Given the description of an element on the screen output the (x, y) to click on. 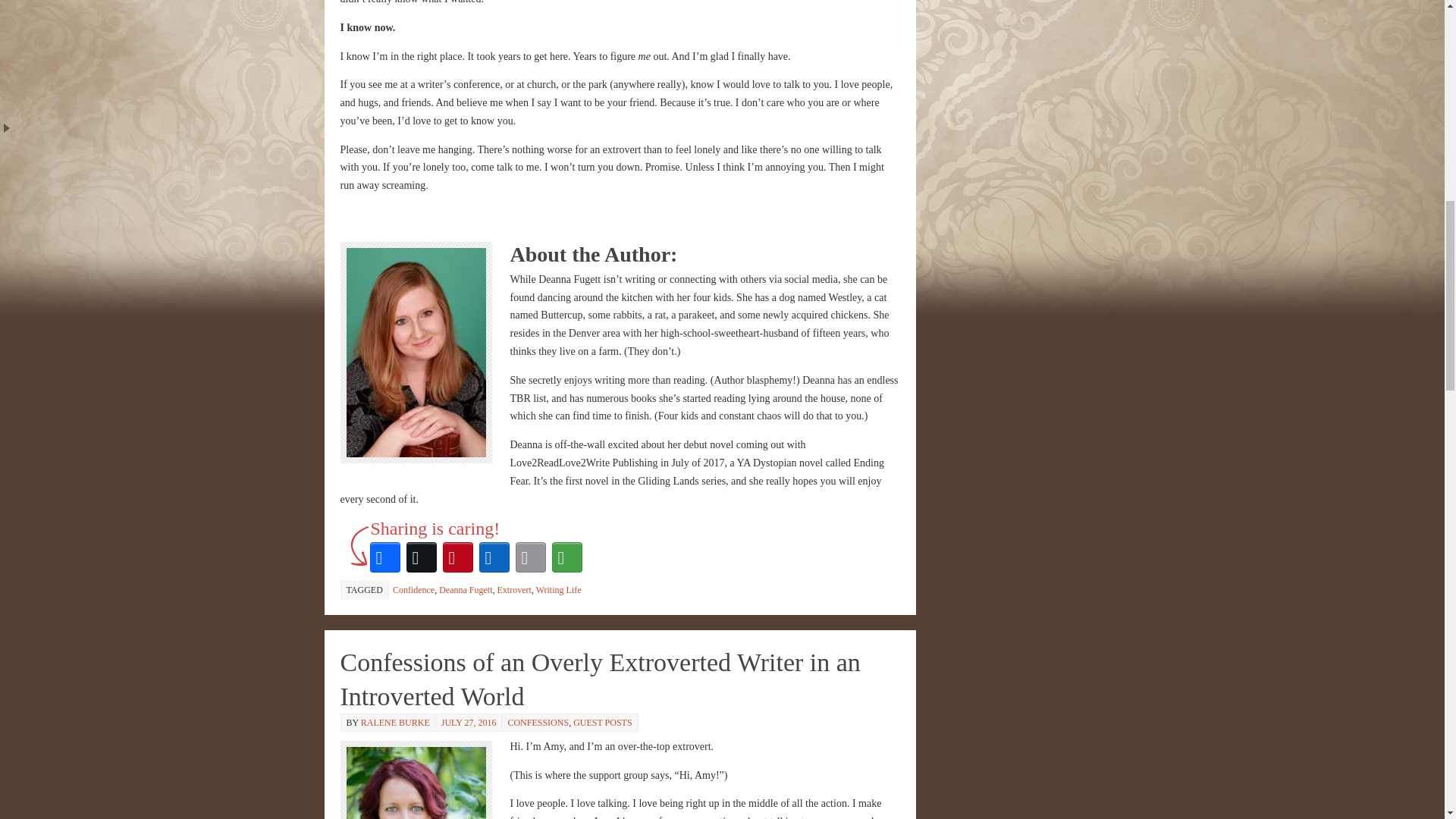
GUEST POSTS (602, 722)
Email This (530, 556)
RALENE BURKE (395, 722)
Deanna Fugett (465, 589)
Pinterest (457, 556)
More Options (566, 556)
Facebook (384, 556)
LinkedIn (494, 556)
Extrovert (514, 589)
CONFESSIONS (537, 722)
Confidence (413, 589)
JULY 27, 2016 (468, 722)
Writing Life (557, 589)
